Given the description of an element on the screen output the (x, y) to click on. 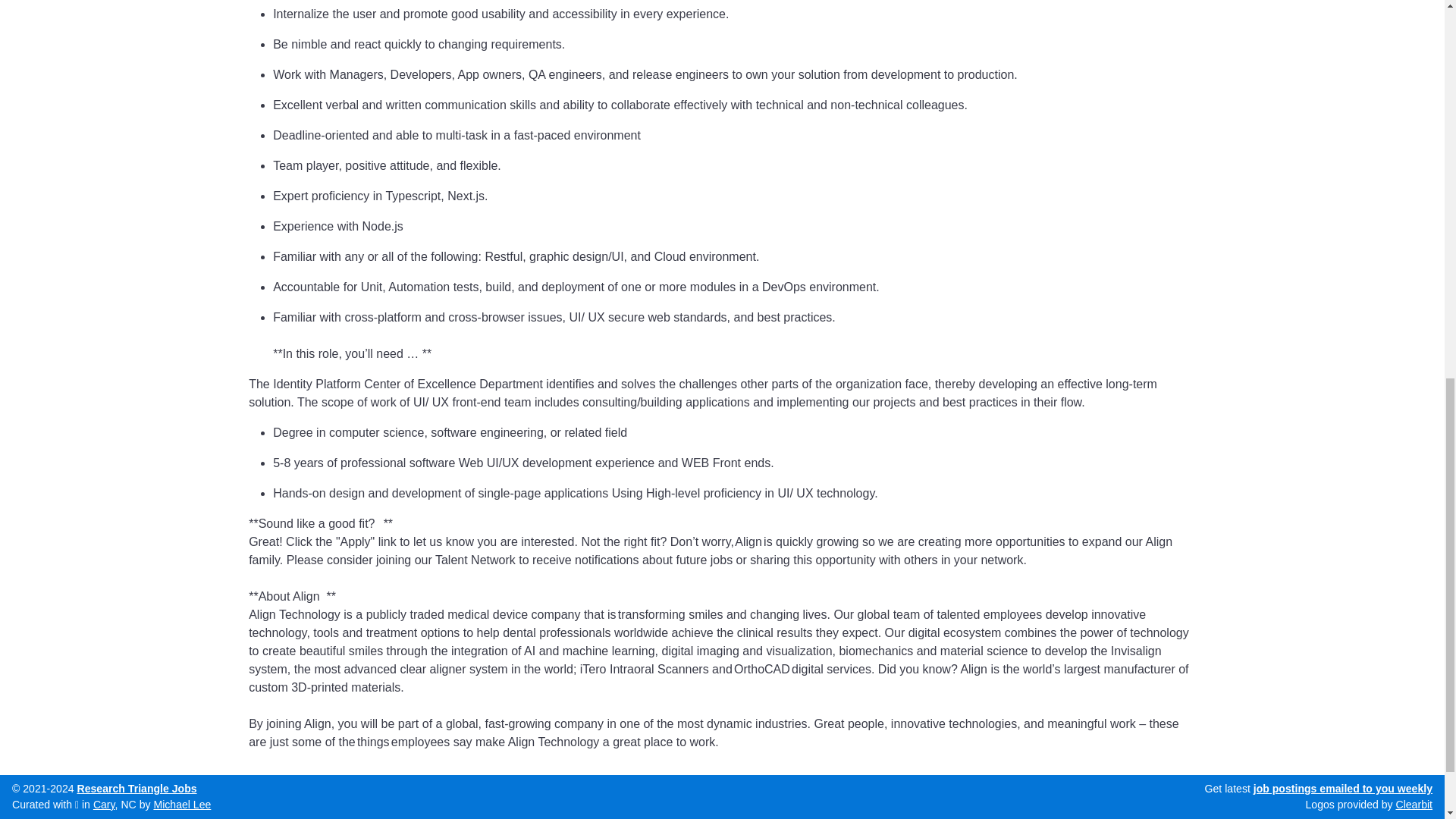
Research Triangle Jobs (136, 23)
Michael Lee (181, 39)
Clearbit (1413, 39)
Cary (104, 39)
job postings emailed to you weekly (1342, 23)
